Given the description of an element on the screen output the (x, y) to click on. 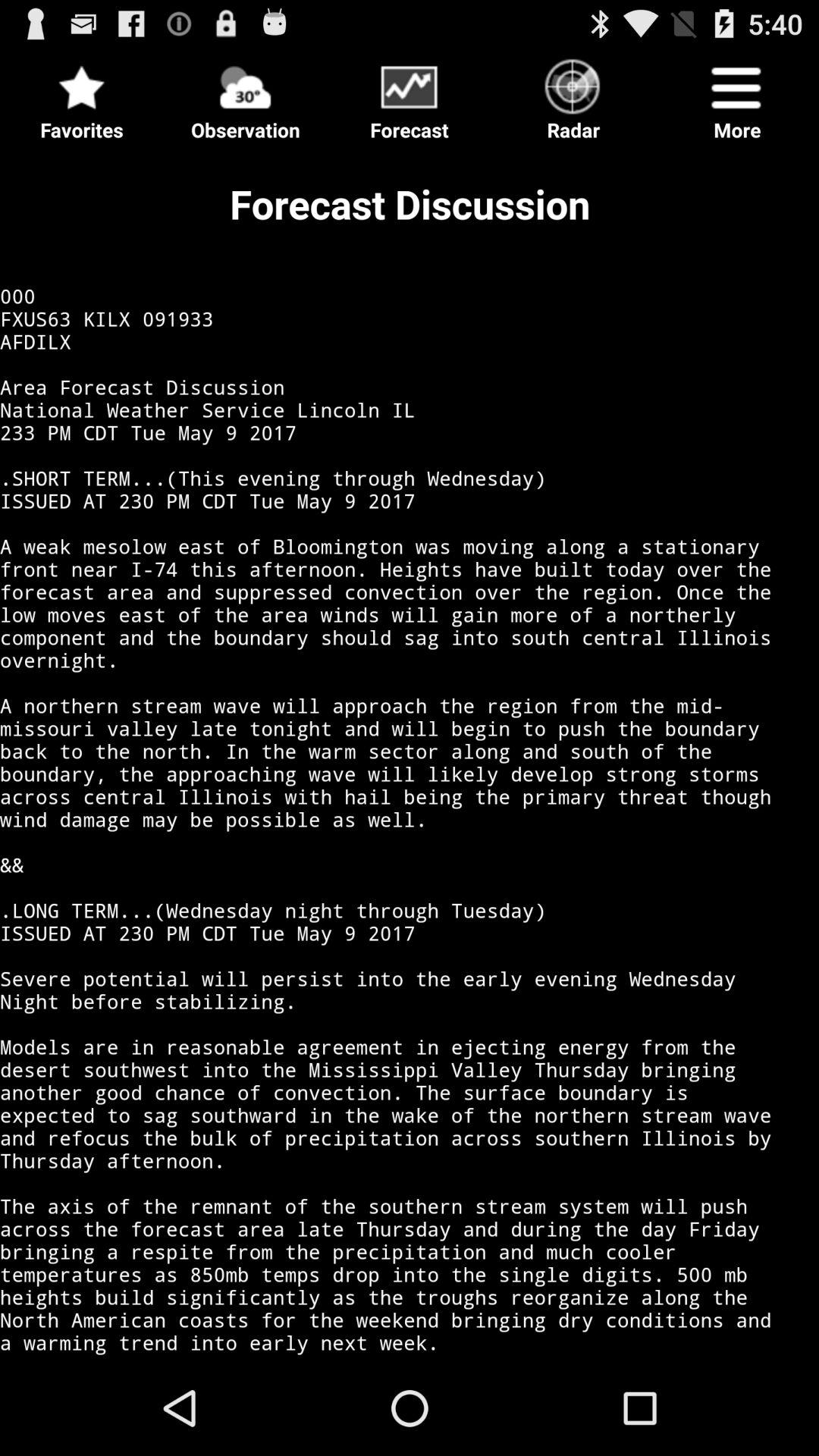
swipe until more button (737, 95)
